Given the description of an element on the screen output the (x, y) to click on. 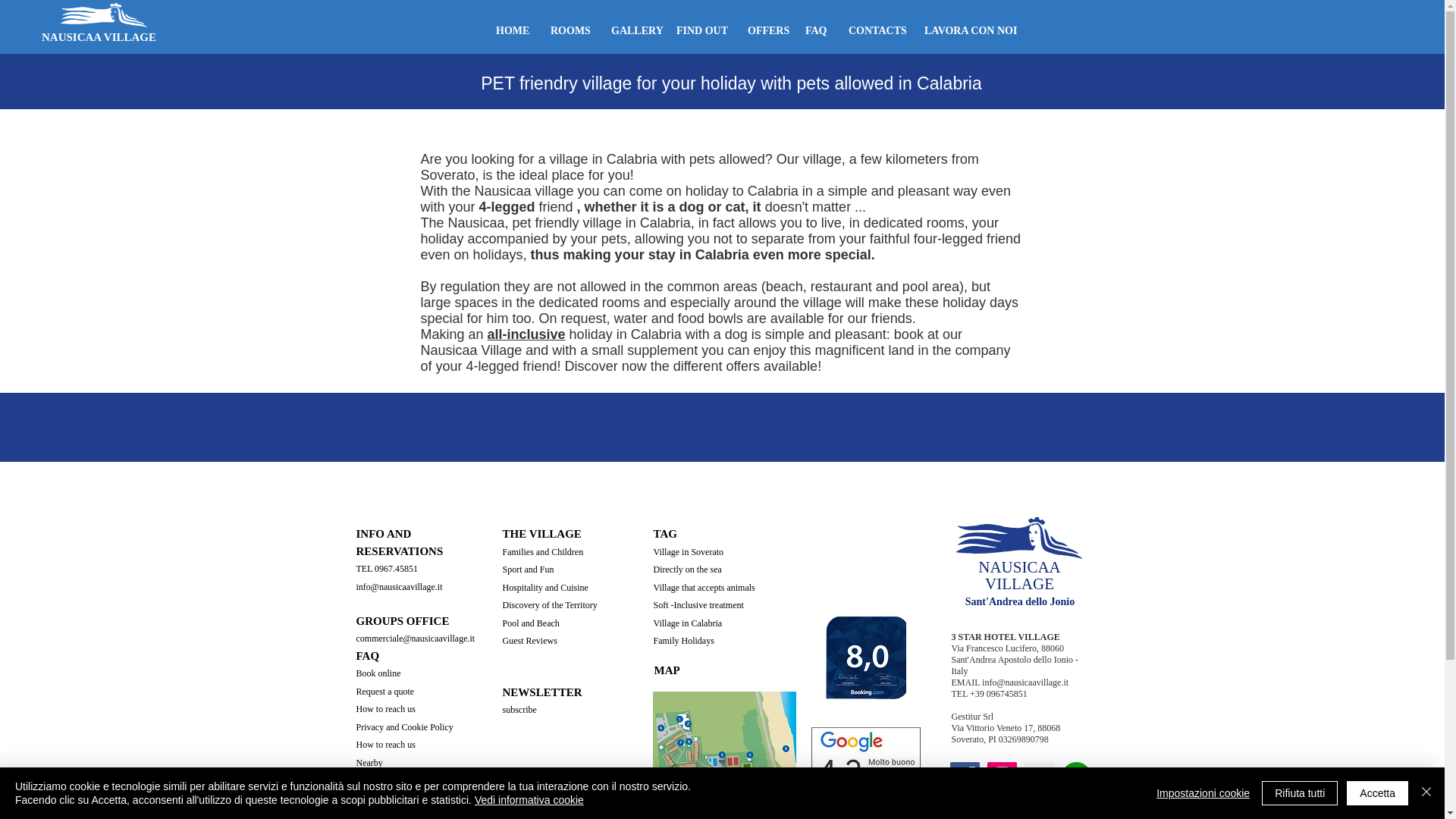
Sport and Fun (527, 569)
How to reach us (385, 744)
Guest Reviews (529, 640)
ROOMS (568, 30)
NAUSICAA VILLAGE (113, 36)
Discovery of the Territory (549, 604)
Book online (378, 671)
Work with us (380, 797)
THE VILLAGE (541, 533)
LAVORA CON NOI (967, 30)
